Given the description of an element on the screen output the (x, y) to click on. 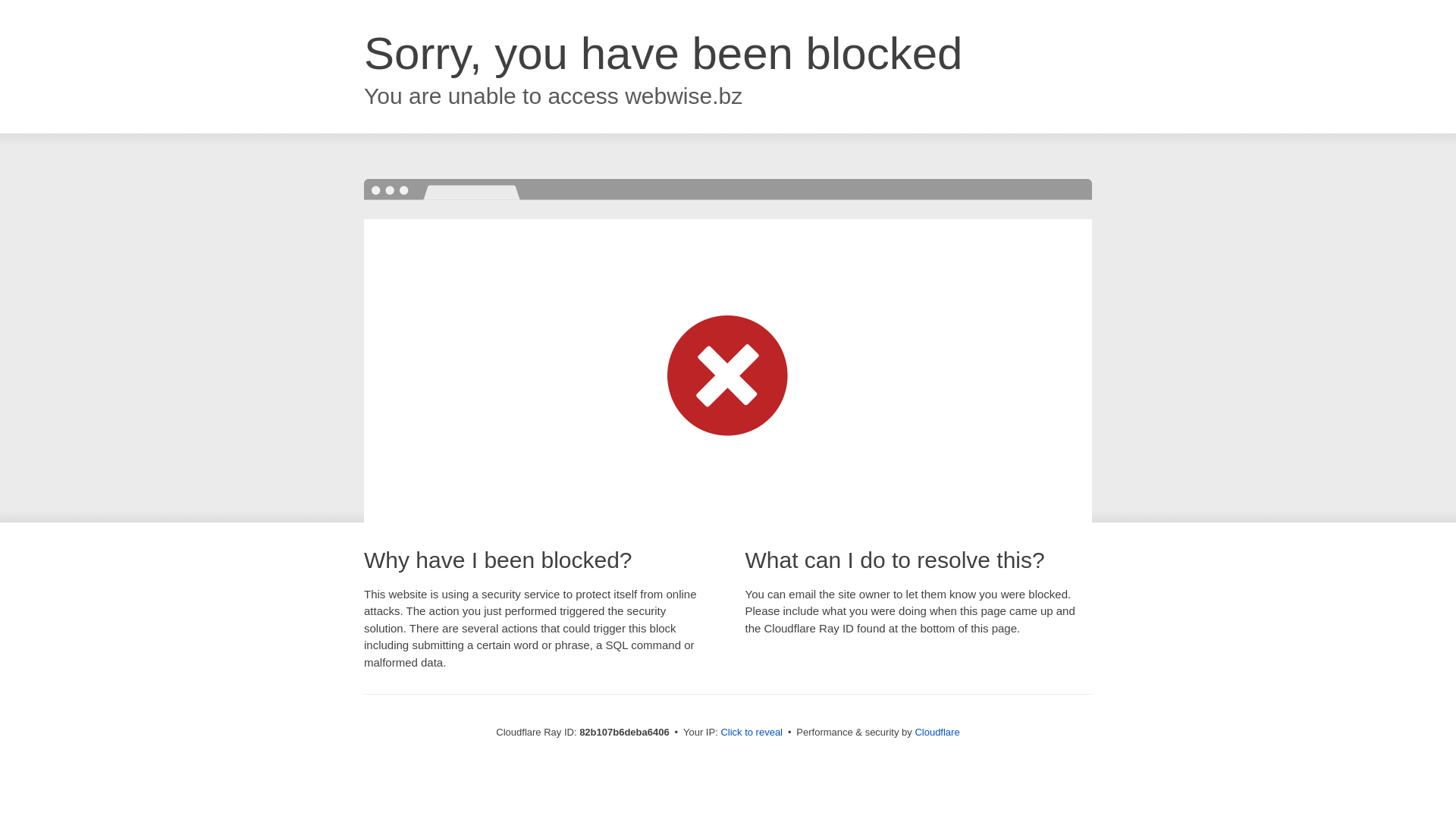
Click to reveal Element type: text (751, 732)
Cloudflare Element type: text (936, 731)
